Given the description of an element on the screen output the (x, y) to click on. 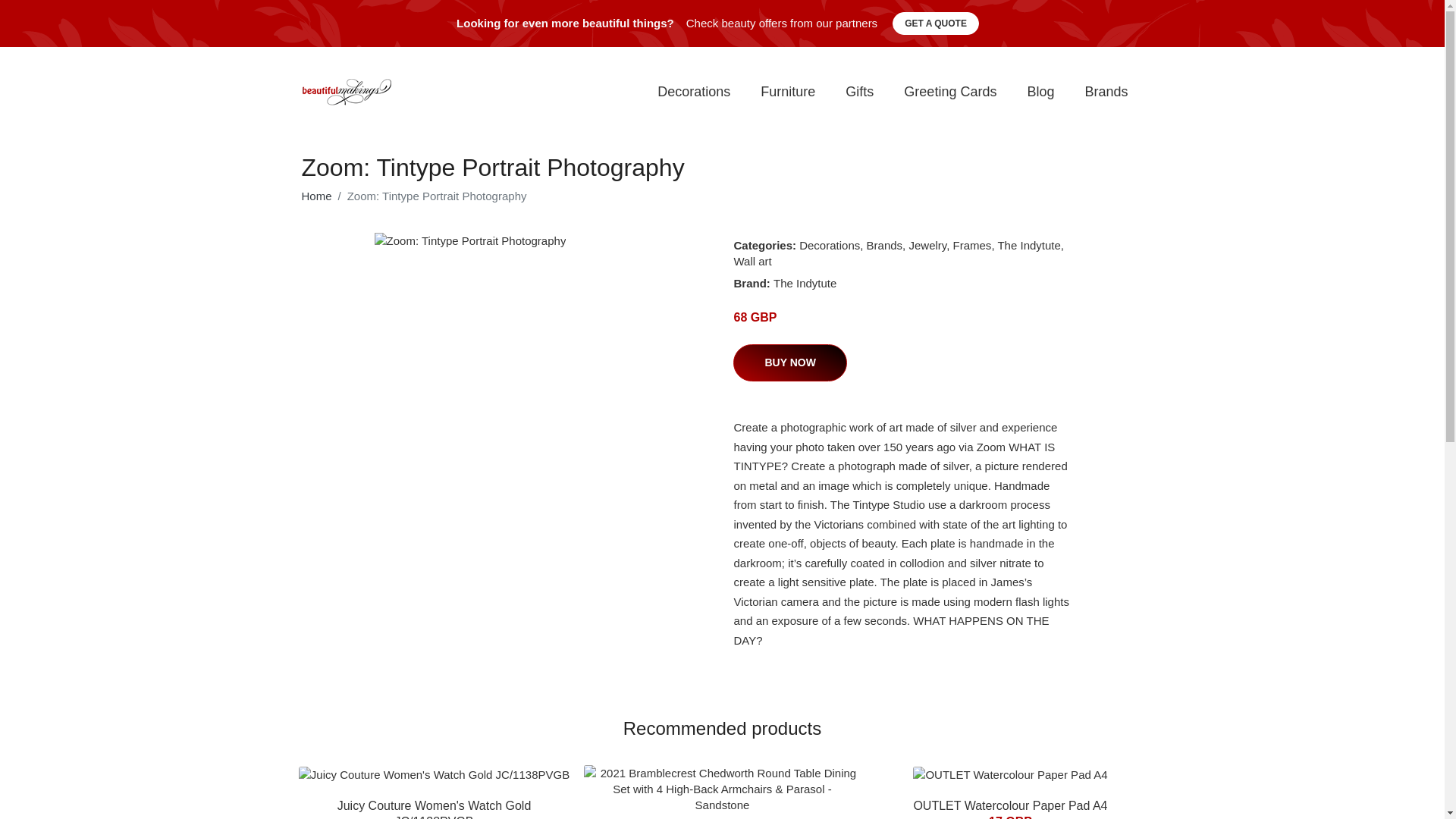
OUTLET Watercolour Paper Pad A4 (1009, 805)
Jewelry (927, 245)
Brands (884, 245)
Brands (1105, 92)
Decorations (693, 92)
Blog (1039, 92)
Frames (972, 245)
BUY NOW (789, 362)
The Indytute (1028, 245)
Greeting Cards (949, 92)
